Given the description of an element on the screen output the (x, y) to click on. 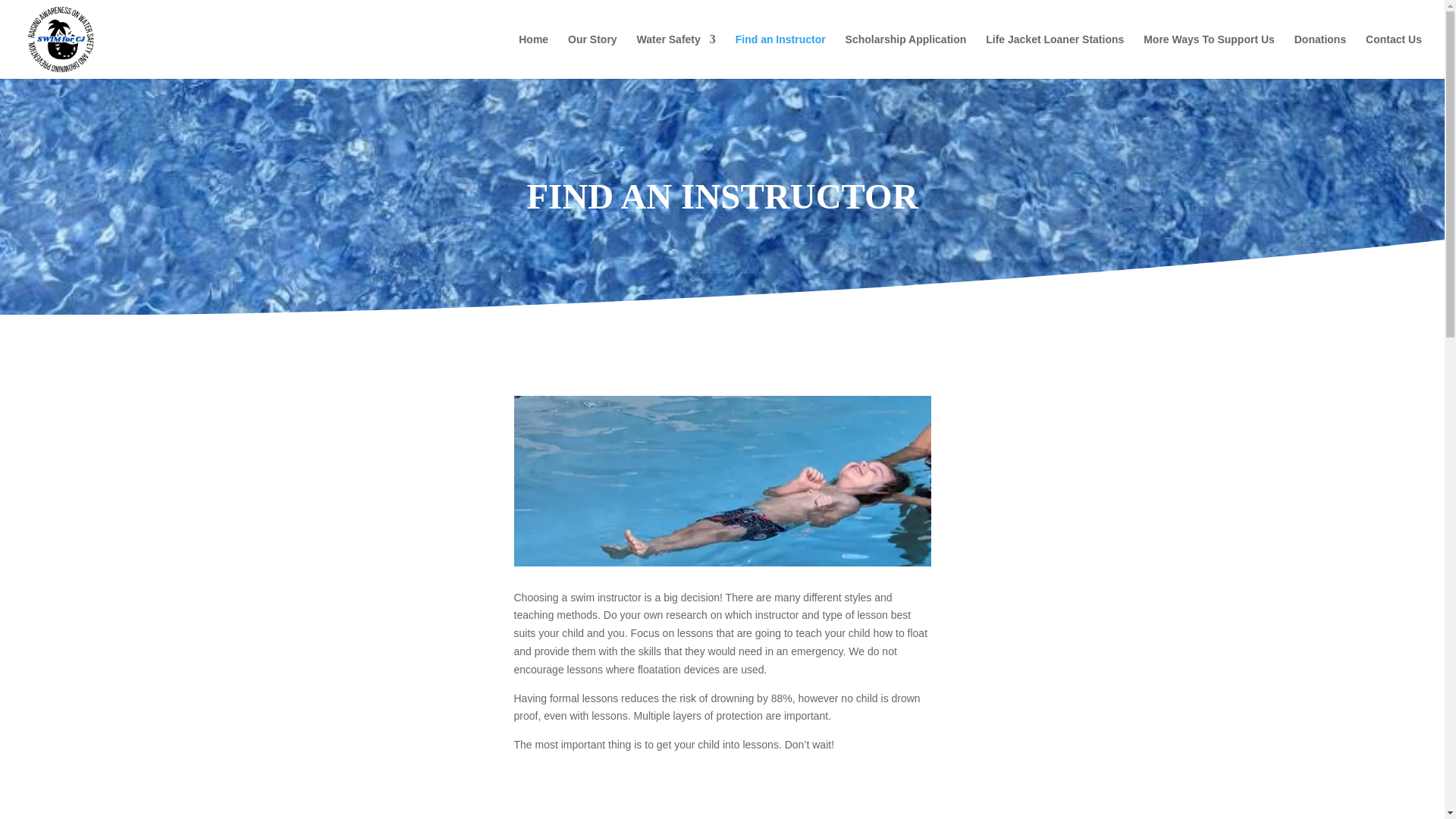
Our Story (592, 56)
Contact Us (1393, 56)
Life Jacket Loaner Stations (1054, 56)
Water Safety (676, 56)
More Ways To Support Us (1208, 56)
Scholarship Application (905, 56)
Donations (1319, 56)
Find an Instructor (780, 56)
